Given the description of an element on the screen output the (x, y) to click on. 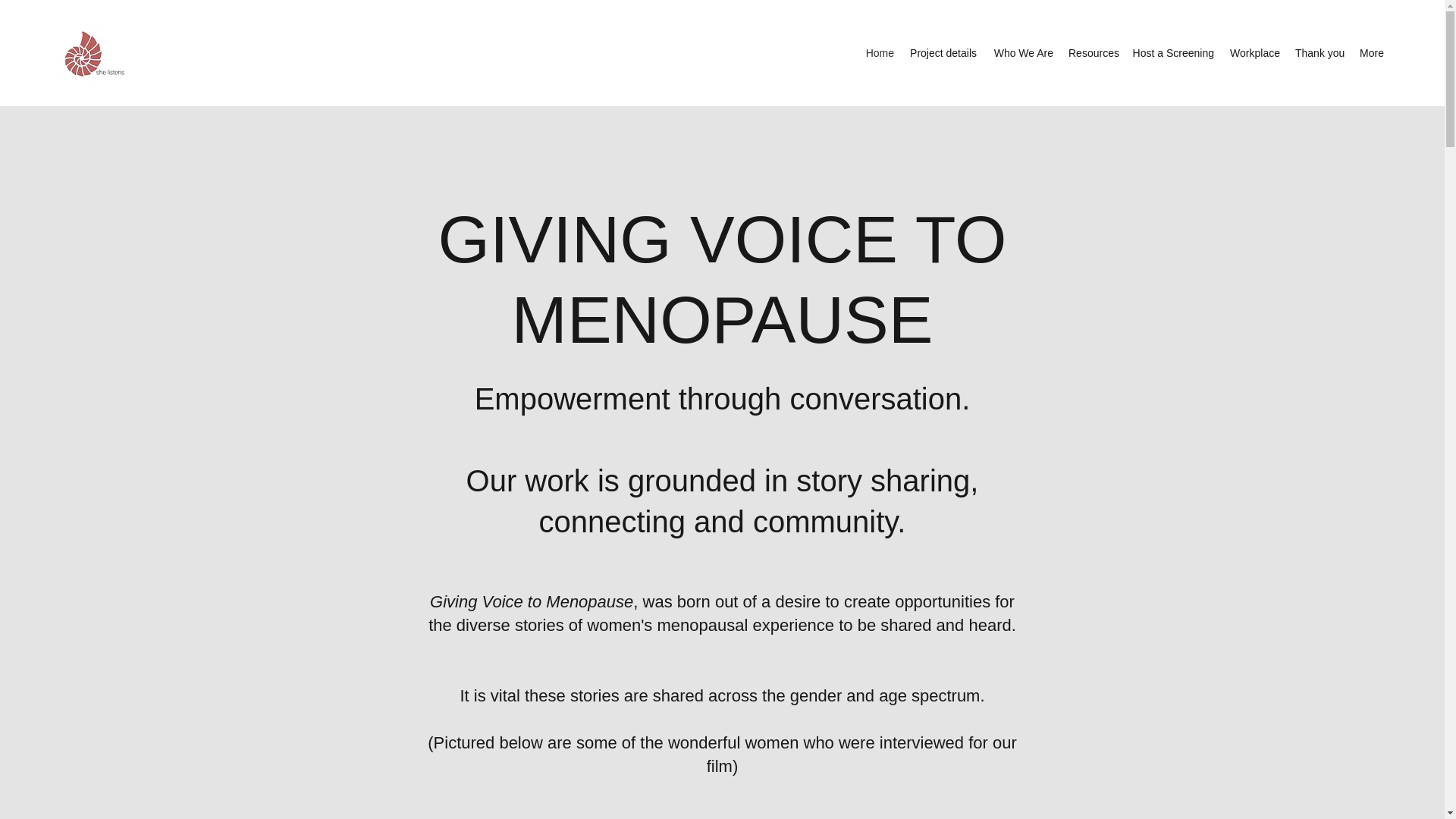
Thank you (1319, 52)
Host a Screening (1172, 52)
Workplace (1254, 52)
Resources (1092, 52)
Project details (942, 52)
Home (879, 52)
Who We Are (1022, 52)
